Given the description of an element on the screen output the (x, y) to click on. 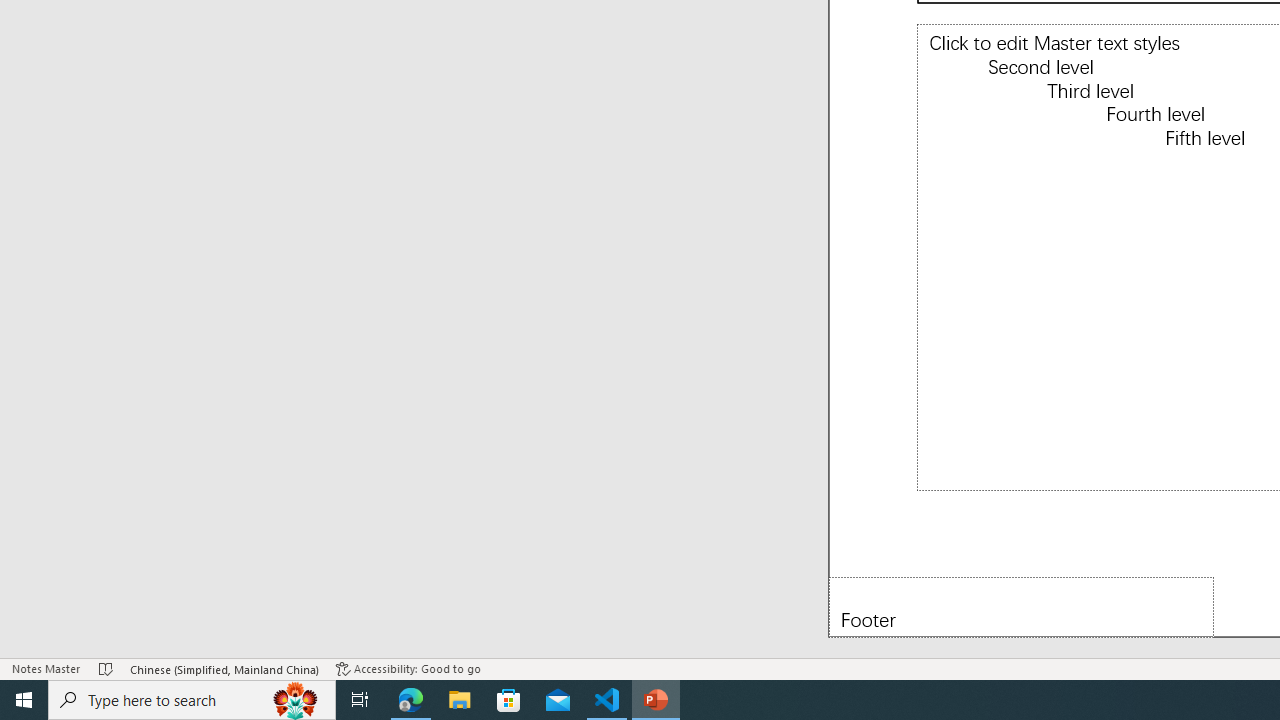
Accessibility Checker Accessibility: Good to go (407, 668)
Footer (1021, 606)
